Given the description of an element on the screen output the (x, y) to click on. 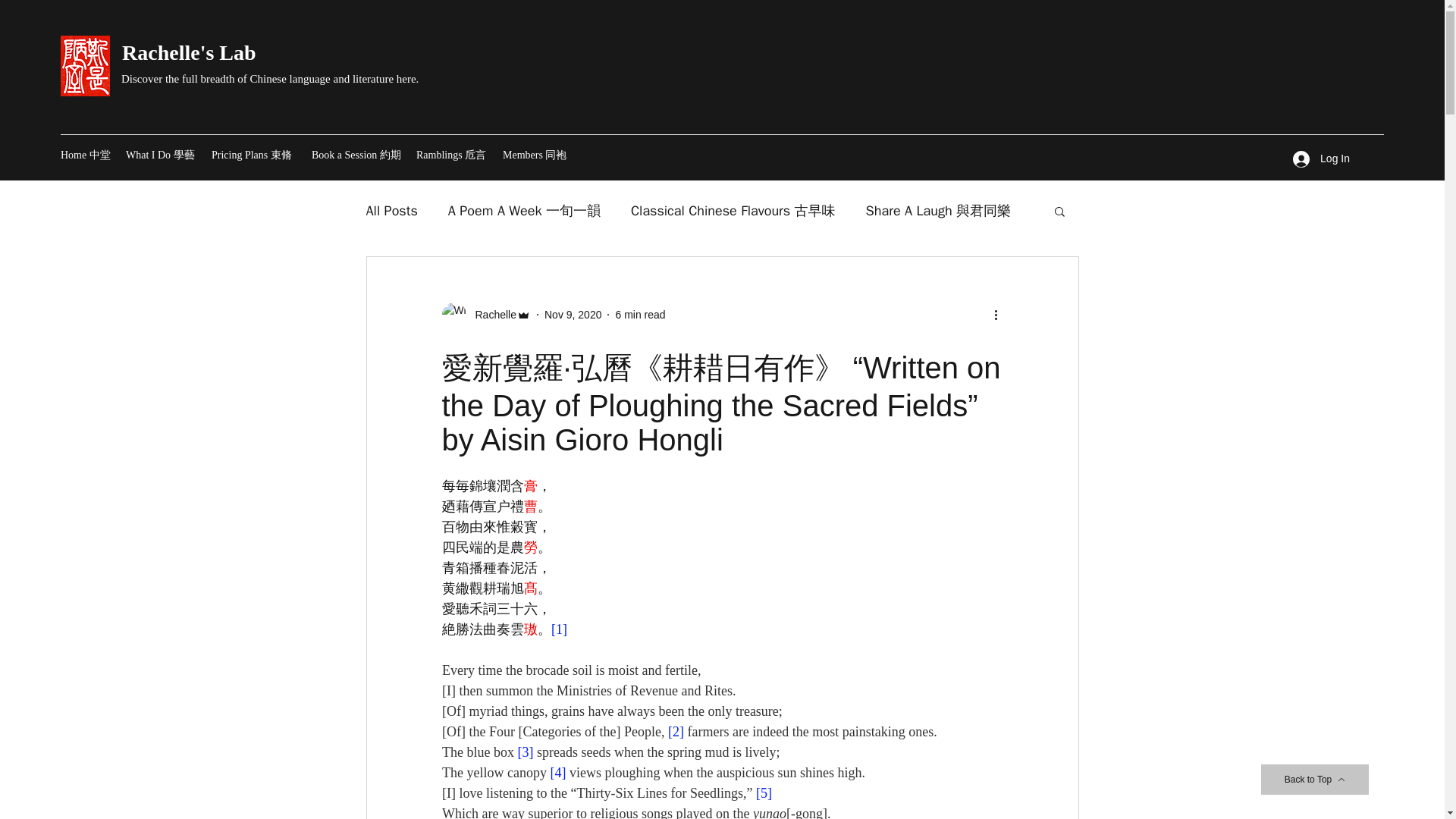
6 min read (639, 313)
Log In (1320, 158)
All Posts (390, 210)
Rachelle (485, 314)
Nov 9, 2020 (573, 313)
Rachelle (490, 314)
Rachelle's Lab (189, 52)
